Given the description of an element on the screen output the (x, y) to click on. 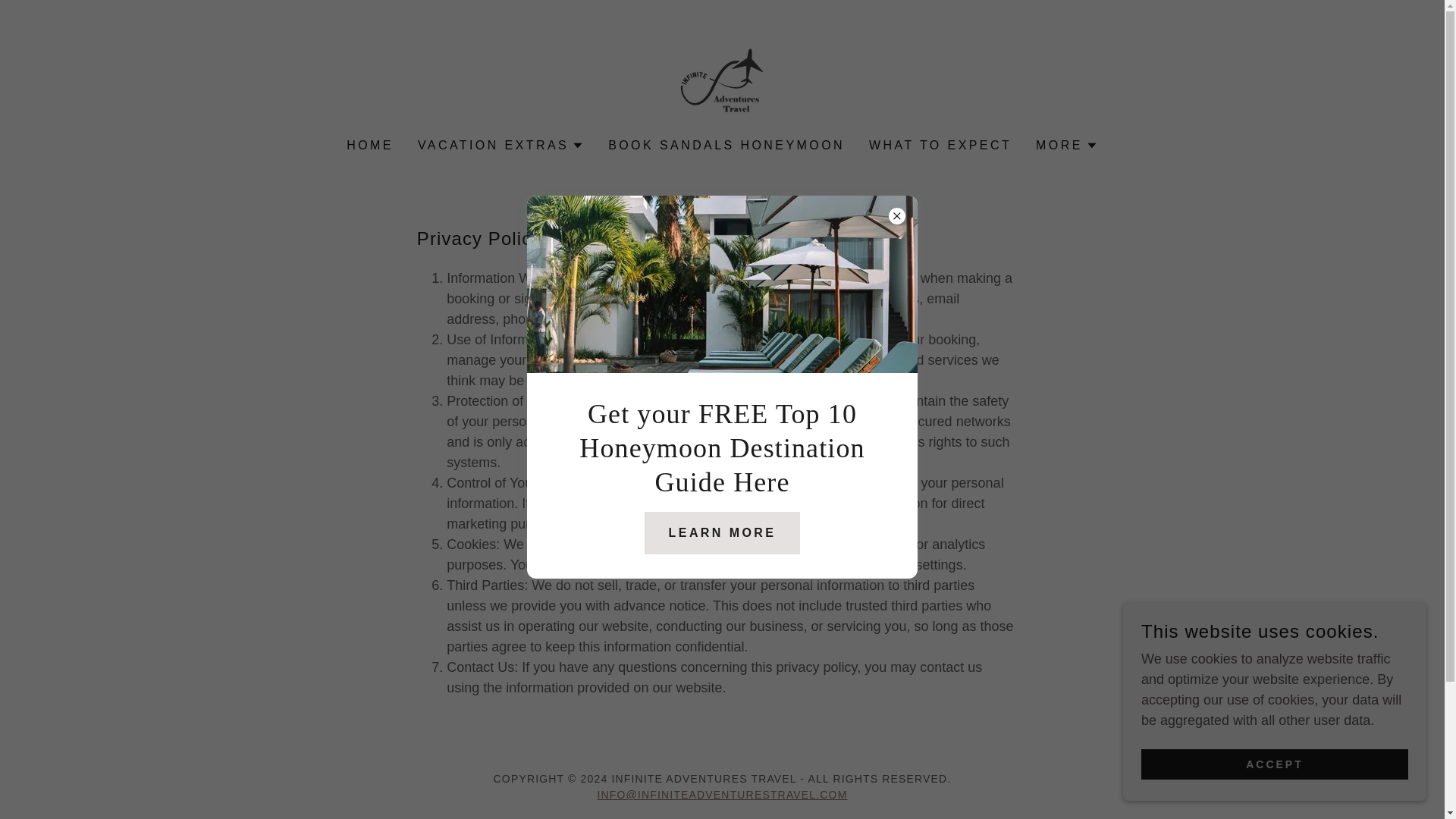
ACCEPT (1274, 764)
HOME (369, 144)
LEARN MORE (722, 532)
Infinite Adventures Travel (721, 79)
WHAT TO EXPECT (940, 144)
VACATION EXTRAS (500, 145)
BOOK SANDALS HONEYMOON (726, 144)
MORE (1066, 145)
